Given the description of an element on the screen output the (x, y) to click on. 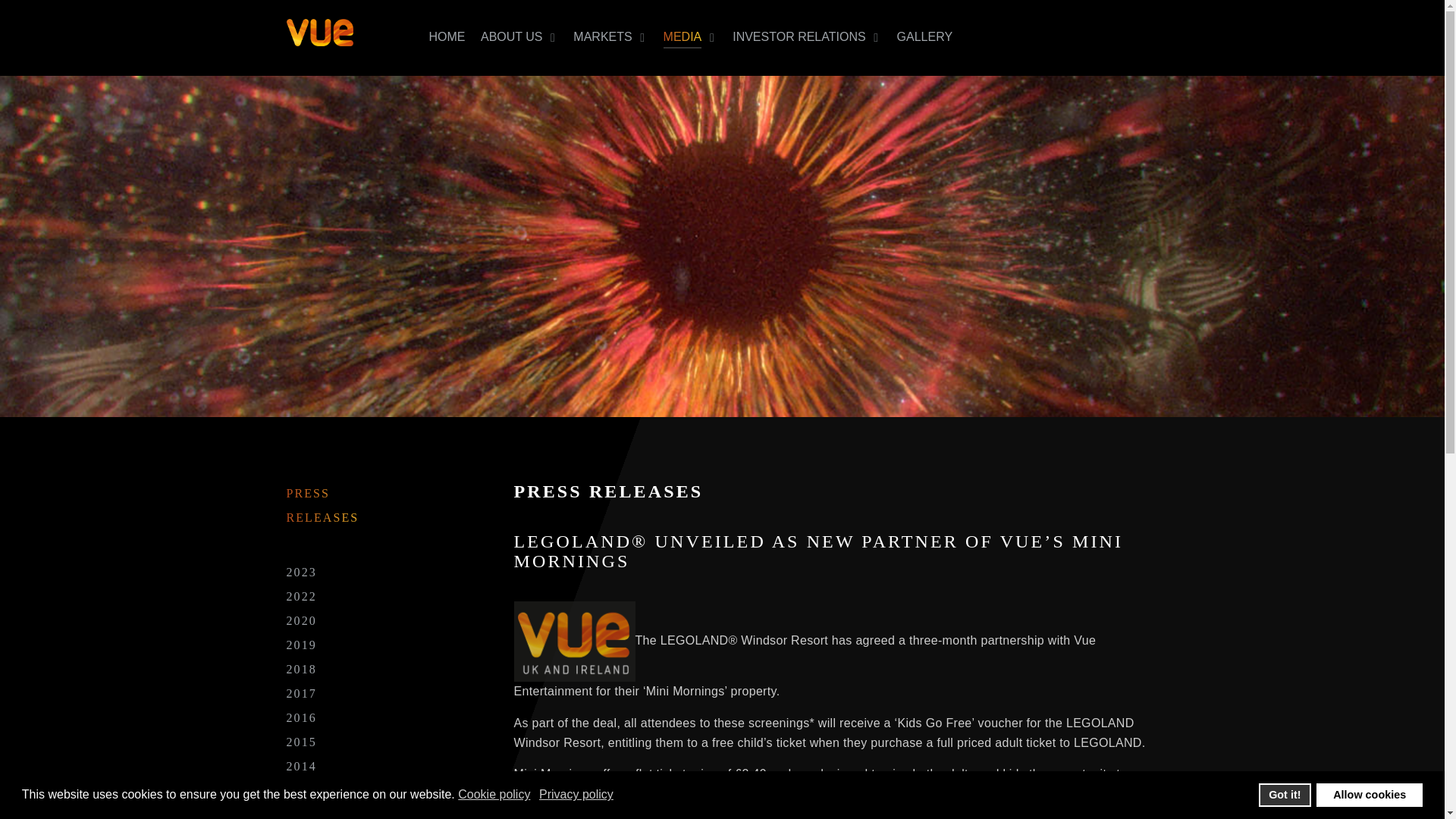
Allow cookies (1369, 794)
2023 (301, 572)
Cookie policy (495, 794)
2015 (301, 742)
2020 (301, 621)
Privacy policy (576, 794)
2022 (301, 596)
2019 (301, 645)
2017 (301, 693)
2016 (301, 717)
Got it! (1285, 794)
HOME (447, 38)
2012 (301, 811)
2013 (301, 790)
Vue International Logo (335, 31)
